Given the description of an element on the screen output the (x, y) to click on. 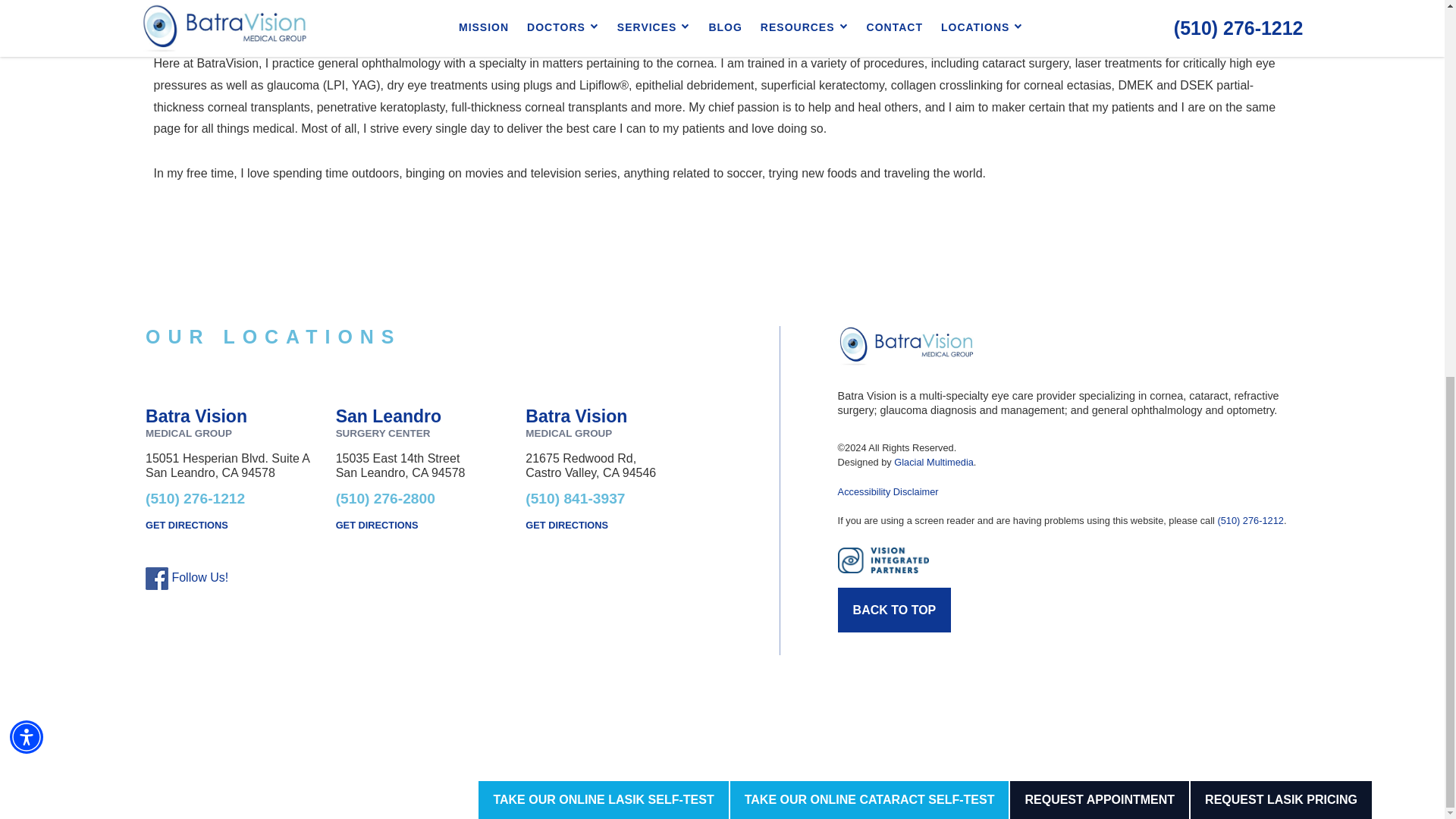
GET DIRECTIONS (430, 524)
Accessibility Menu (26, 41)
TAKE OUR ONLINE LASIK SELF-TEST (603, 105)
REQUEST LASIK PRICING (1281, 105)
TAKE OUR ONLINE CATARACT SELF-TEST (869, 105)
REQUEST APPOINTMENT (1099, 105)
GET DIRECTIONS (240, 524)
